Given the description of an element on the screen output the (x, y) to click on. 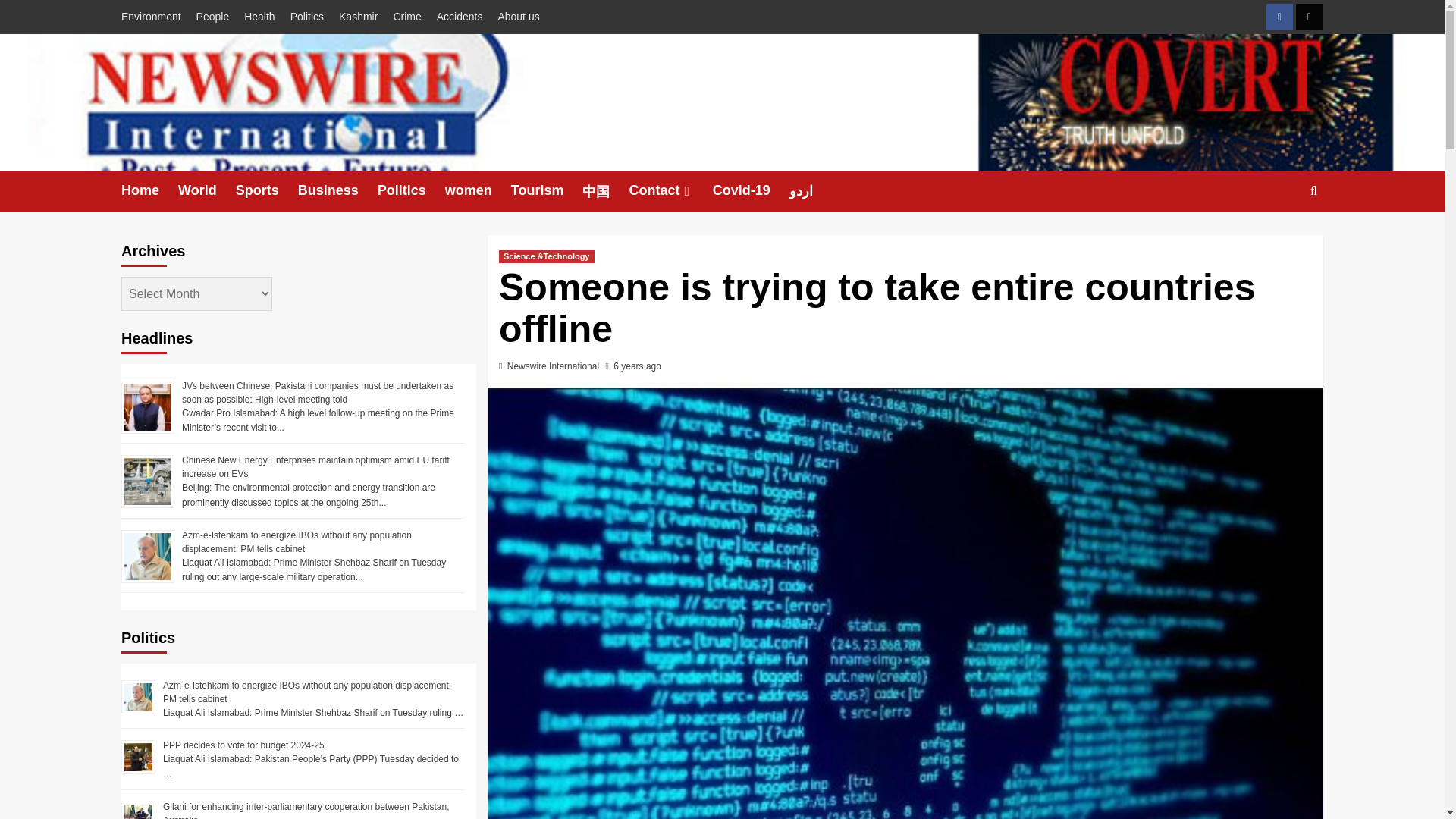
Search (1313, 190)
Accidents (459, 17)
Kashmir (358, 17)
women (478, 190)
Politics (306, 17)
People (213, 17)
Home (148, 190)
Covid-19 (751, 190)
6 years ago (636, 366)
World (206, 190)
Facebook (1279, 17)
Crime (406, 17)
Contact (669, 190)
Sports (266, 190)
